Given the description of an element on the screen output the (x, y) to click on. 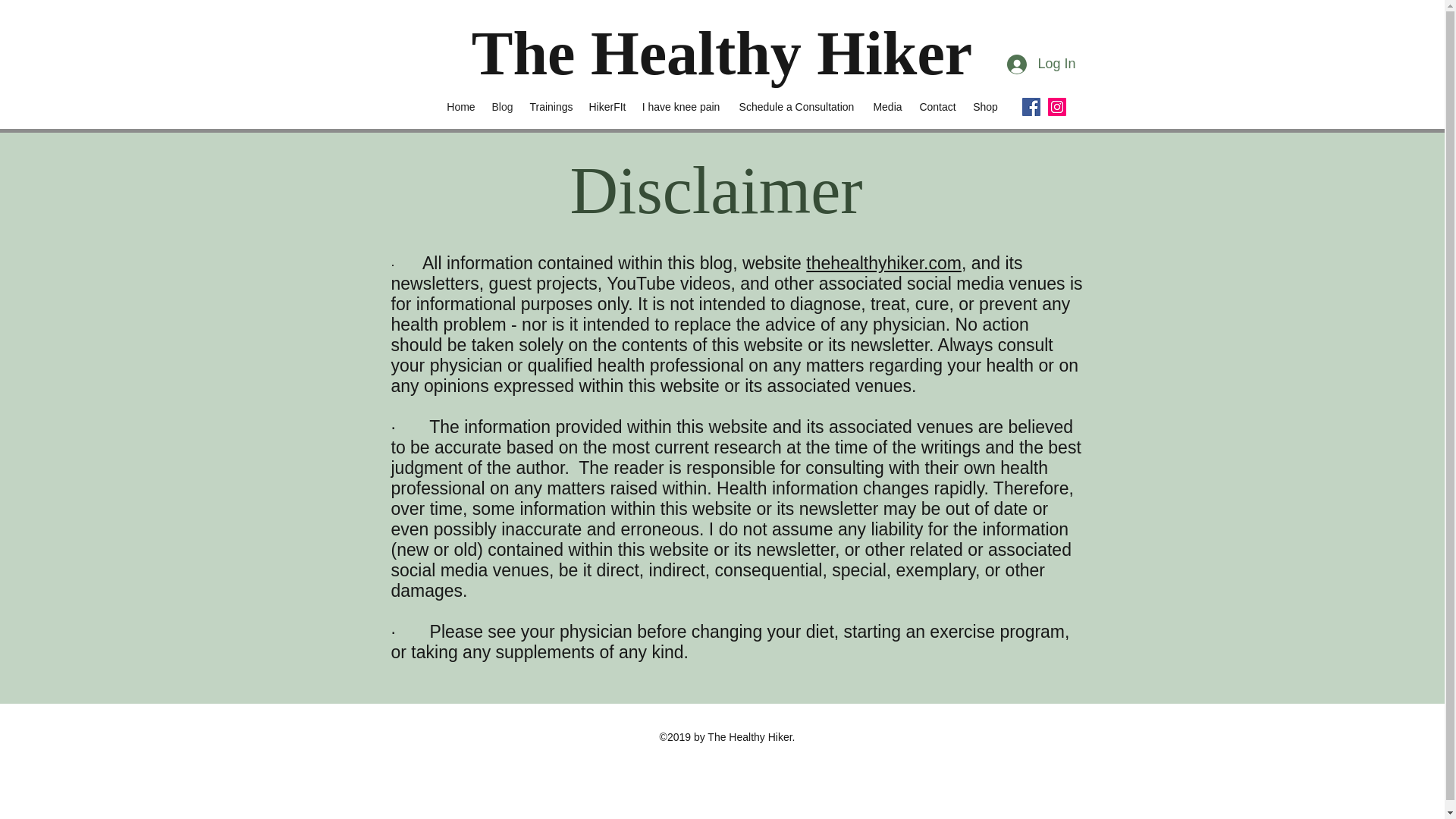
Shop (984, 106)
HikerFIt (606, 106)
Trainings (550, 106)
thehealthyhiker.com (883, 262)
Home (460, 106)
The Healthy Hiker (721, 52)
Media (887, 106)
Log In (1040, 64)
Contact (936, 106)
I have knee pain (681, 106)
